Given the description of an element on the screen output the (x, y) to click on. 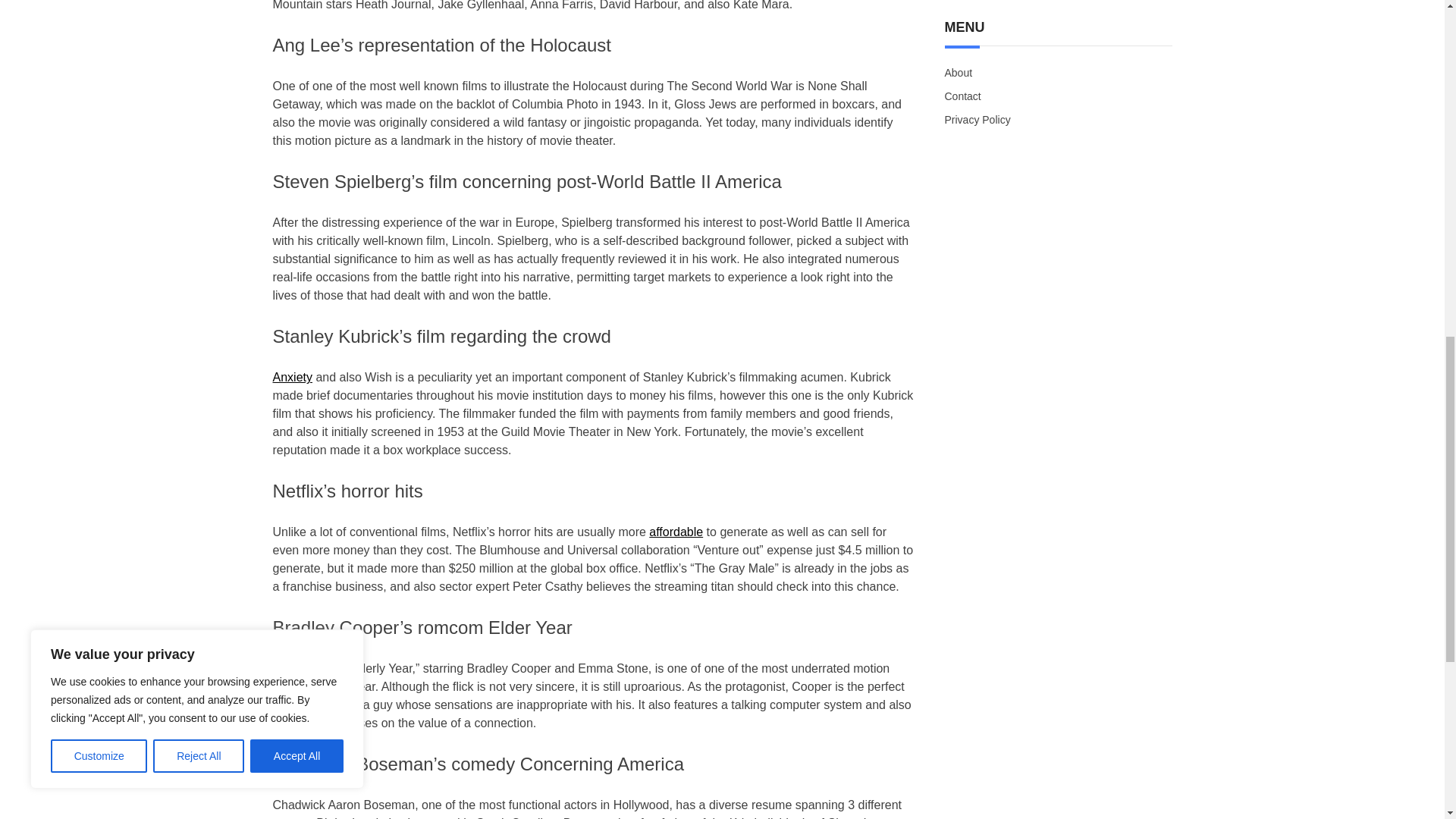
affordable (676, 531)
Anxiety (293, 377)
